Given the description of an element on the screen output the (x, y) to click on. 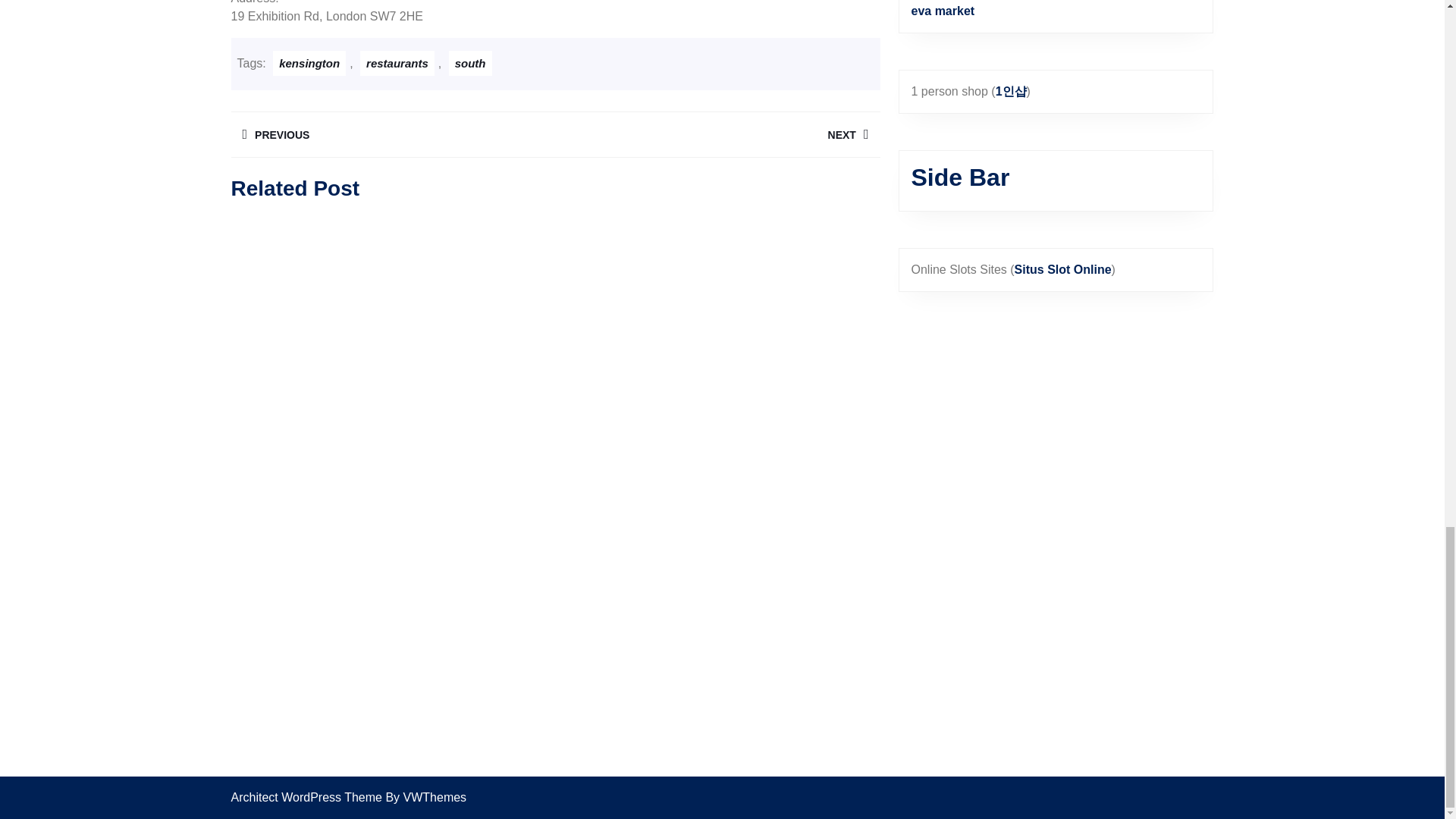
restaurants (716, 134)
kensington (392, 134)
south (396, 63)
